Given the description of an element on the screen output the (x, y) to click on. 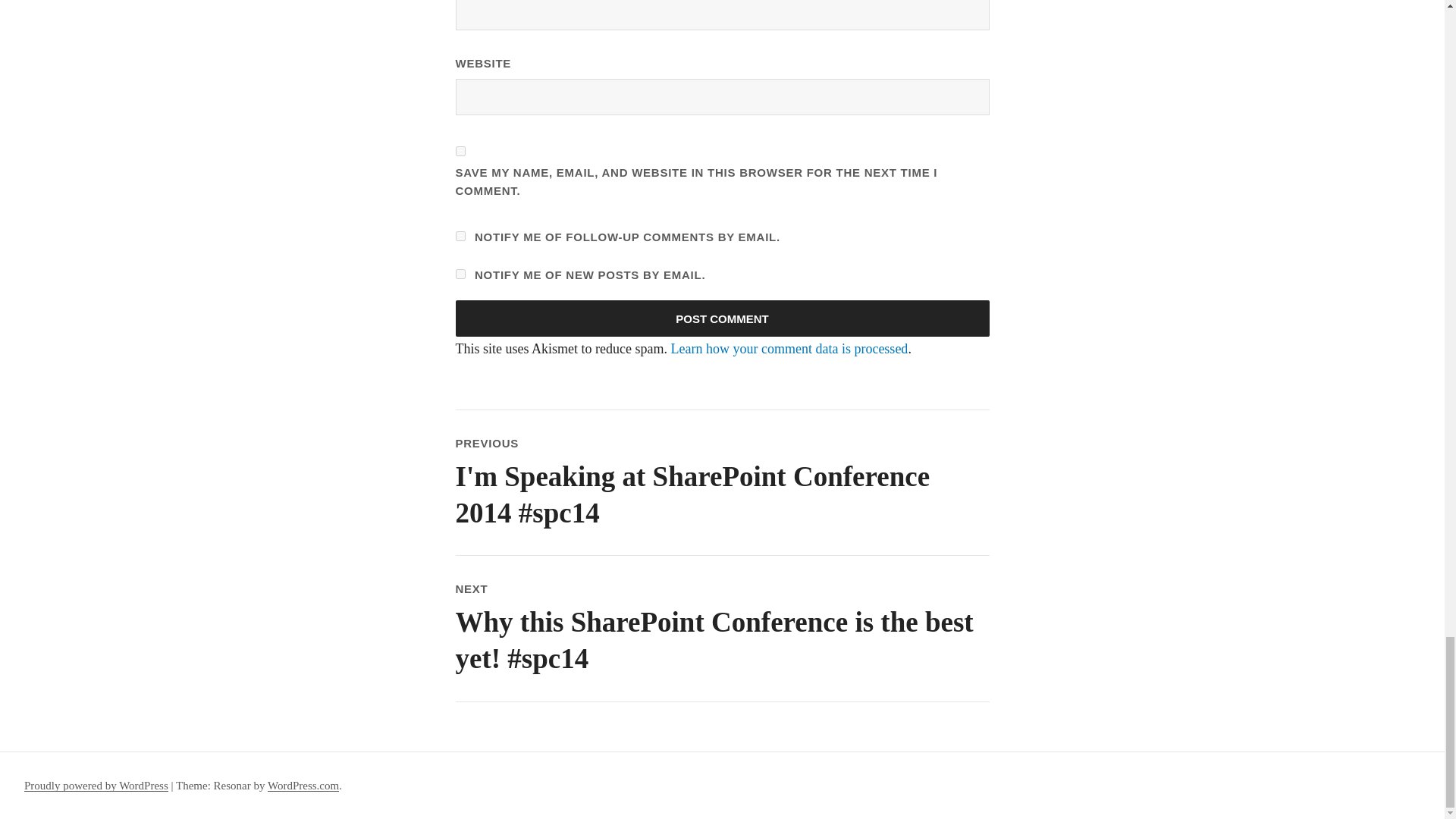
Post Comment (721, 318)
yes (459, 151)
Post Comment (721, 318)
subscribe (459, 235)
subscribe (459, 274)
Learn how your comment data is processed (788, 348)
